Given the description of an element on the screen output the (x, y) to click on. 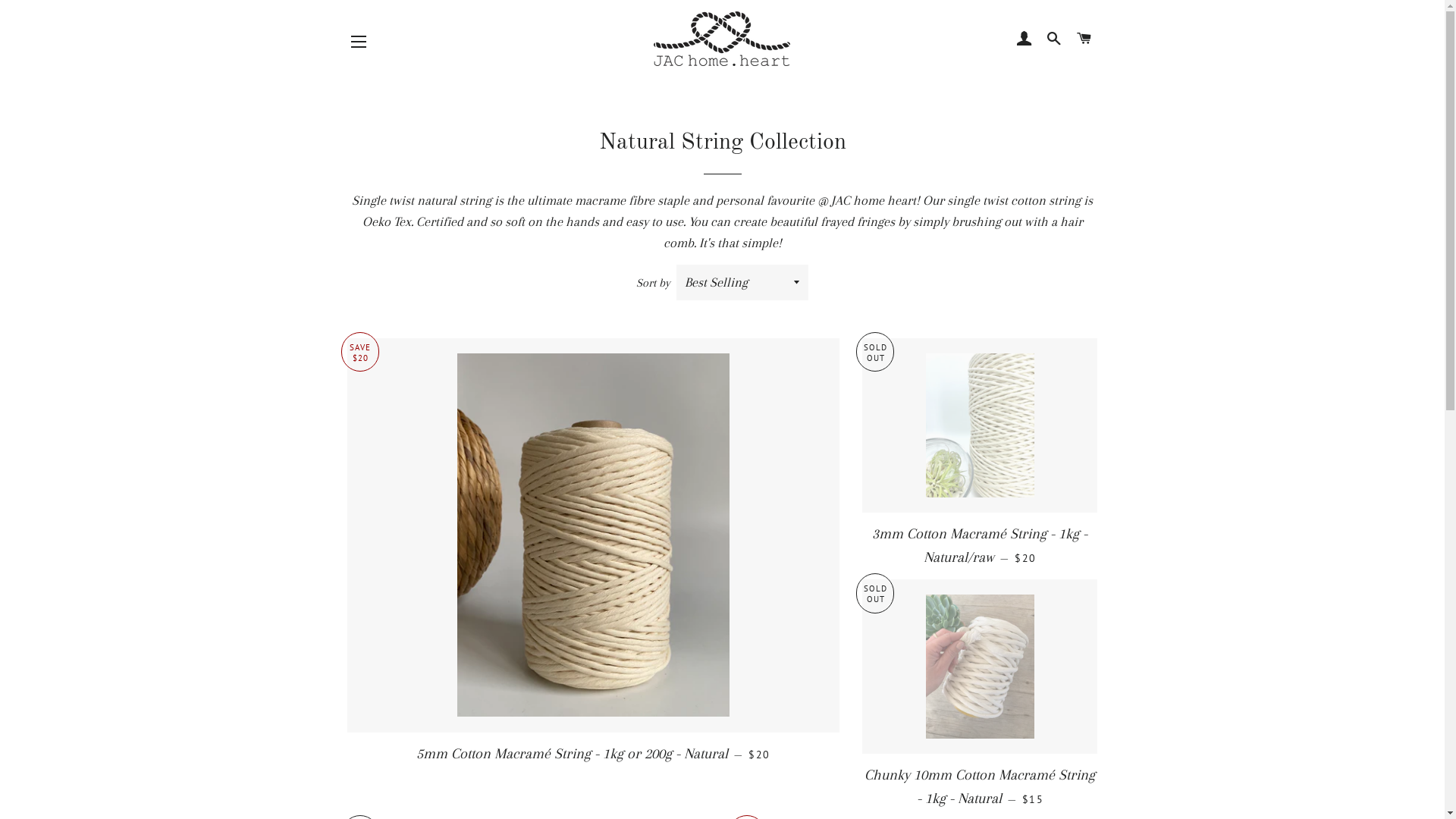
LOG IN Element type: text (1023, 38)
SITE NAVIGATION Element type: text (358, 41)
SEARCH Element type: text (1054, 38)
CART Element type: text (1083, 38)
